Given the description of an element on the screen output the (x, y) to click on. 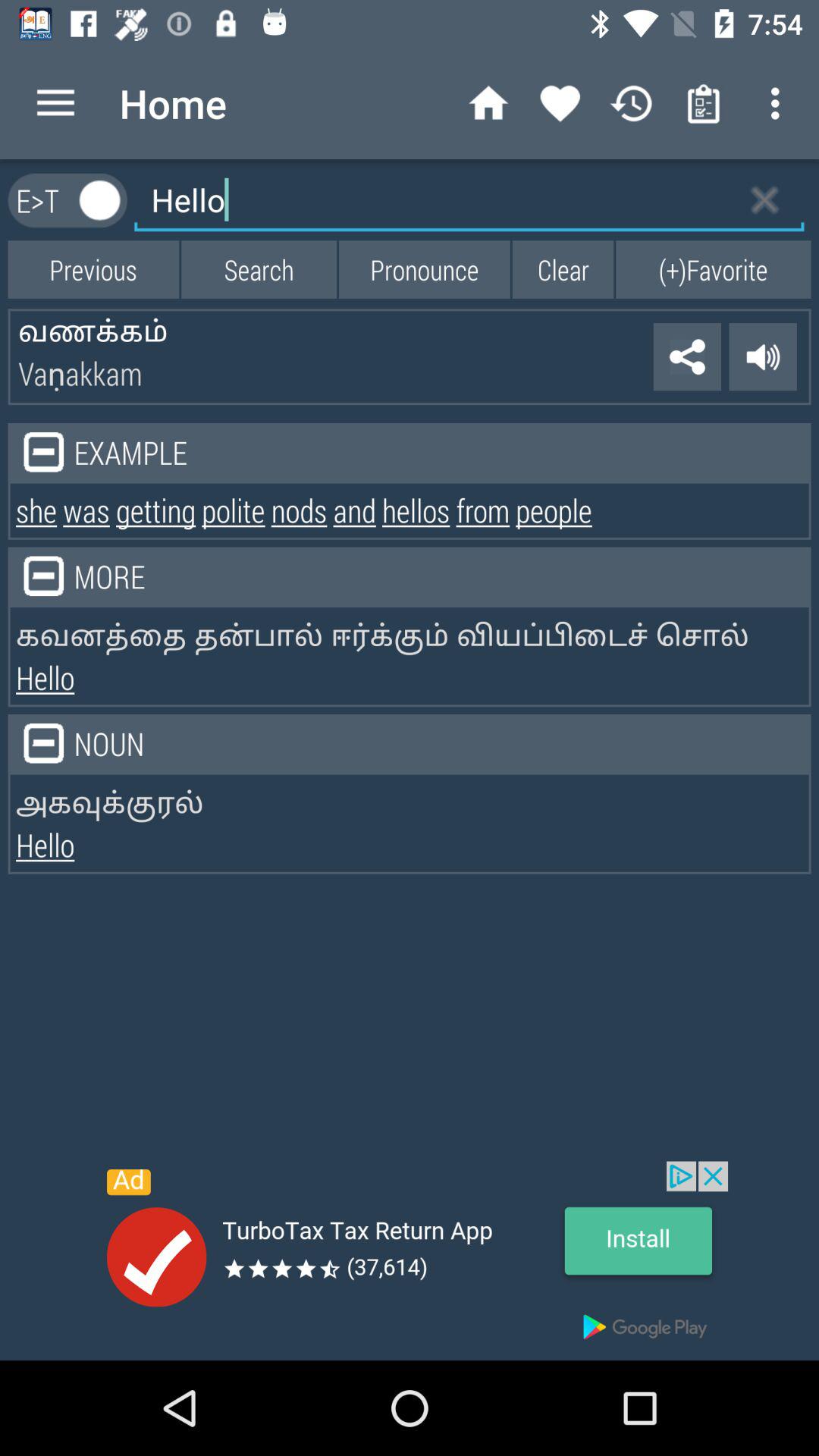
change language translation (100, 200)
